Given the description of an element on the screen output the (x, y) to click on. 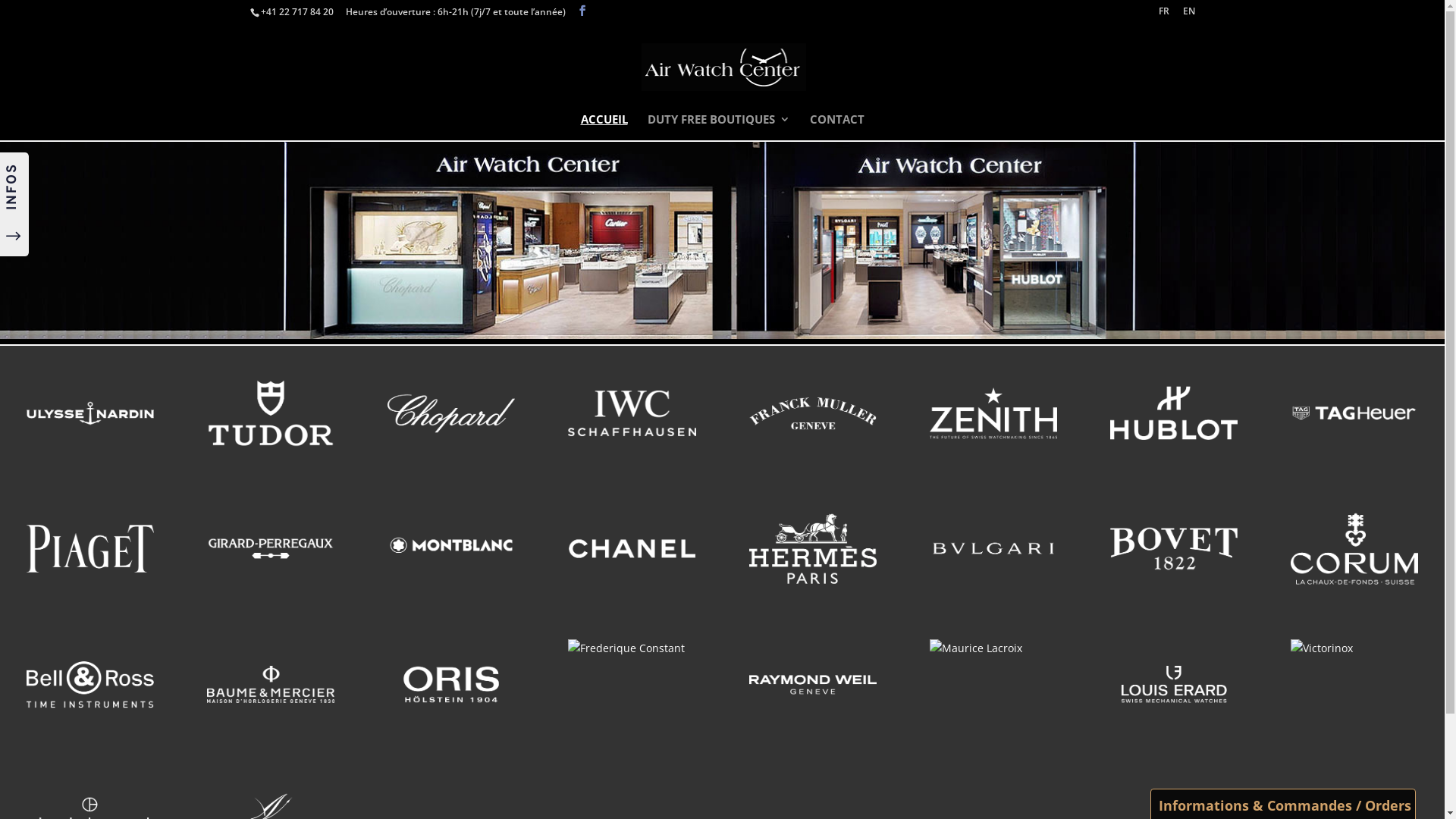
EN Element type: text (1189, 14)
CONTACT Element type: text (836, 126)
ACCUEIL Element type: text (603, 126)
DUTY FREE BOUTIQUES Element type: text (718, 126)
FR Element type: text (1163, 14)
